Given the description of an element on the screen output the (x, y) to click on. 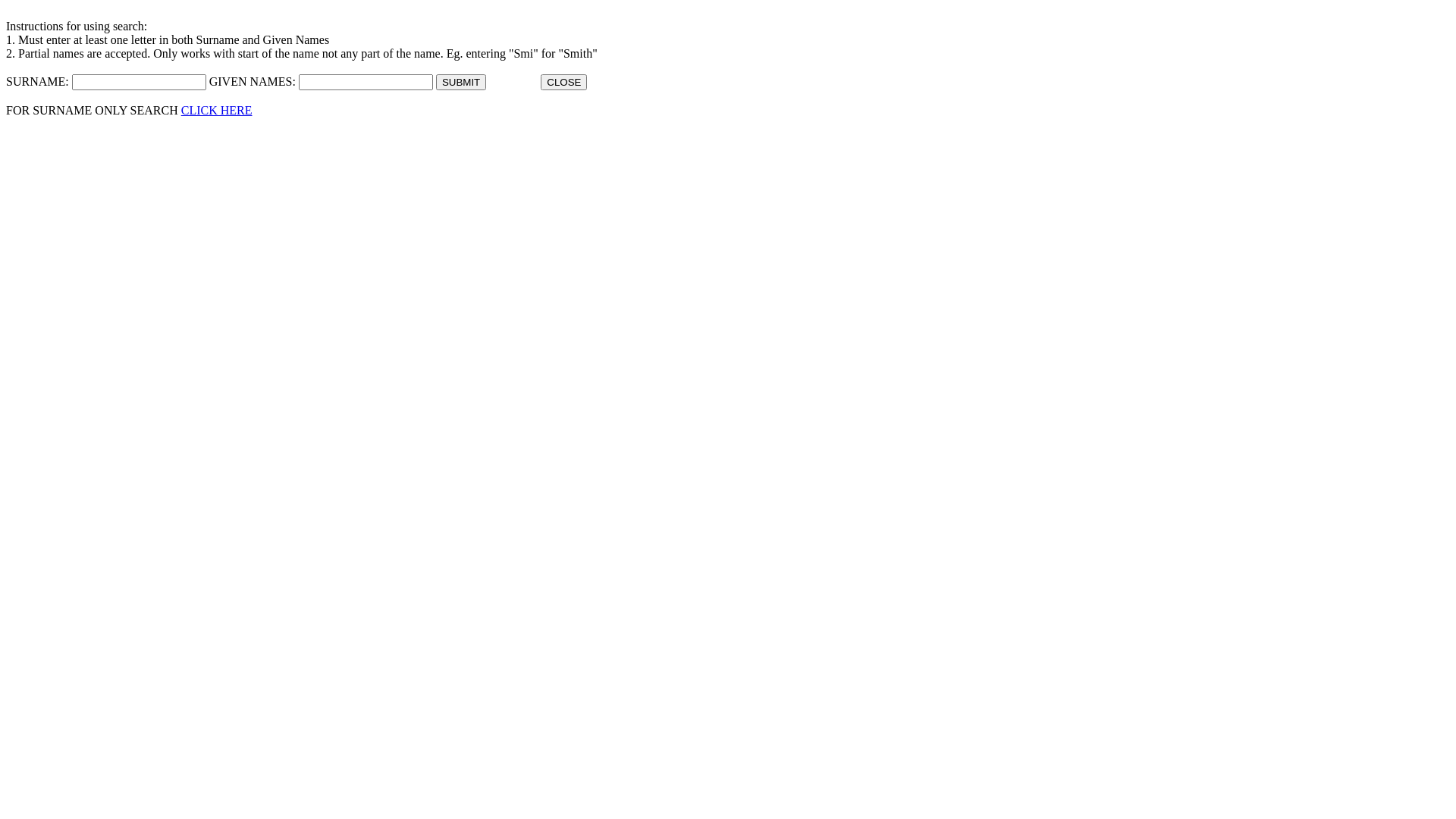
SUBMIT Element type: text (461, 82)
CLOSE Element type: text (563, 82)
CLICK HERE Element type: text (216, 109)
